Given the description of an element on the screen output the (x, y) to click on. 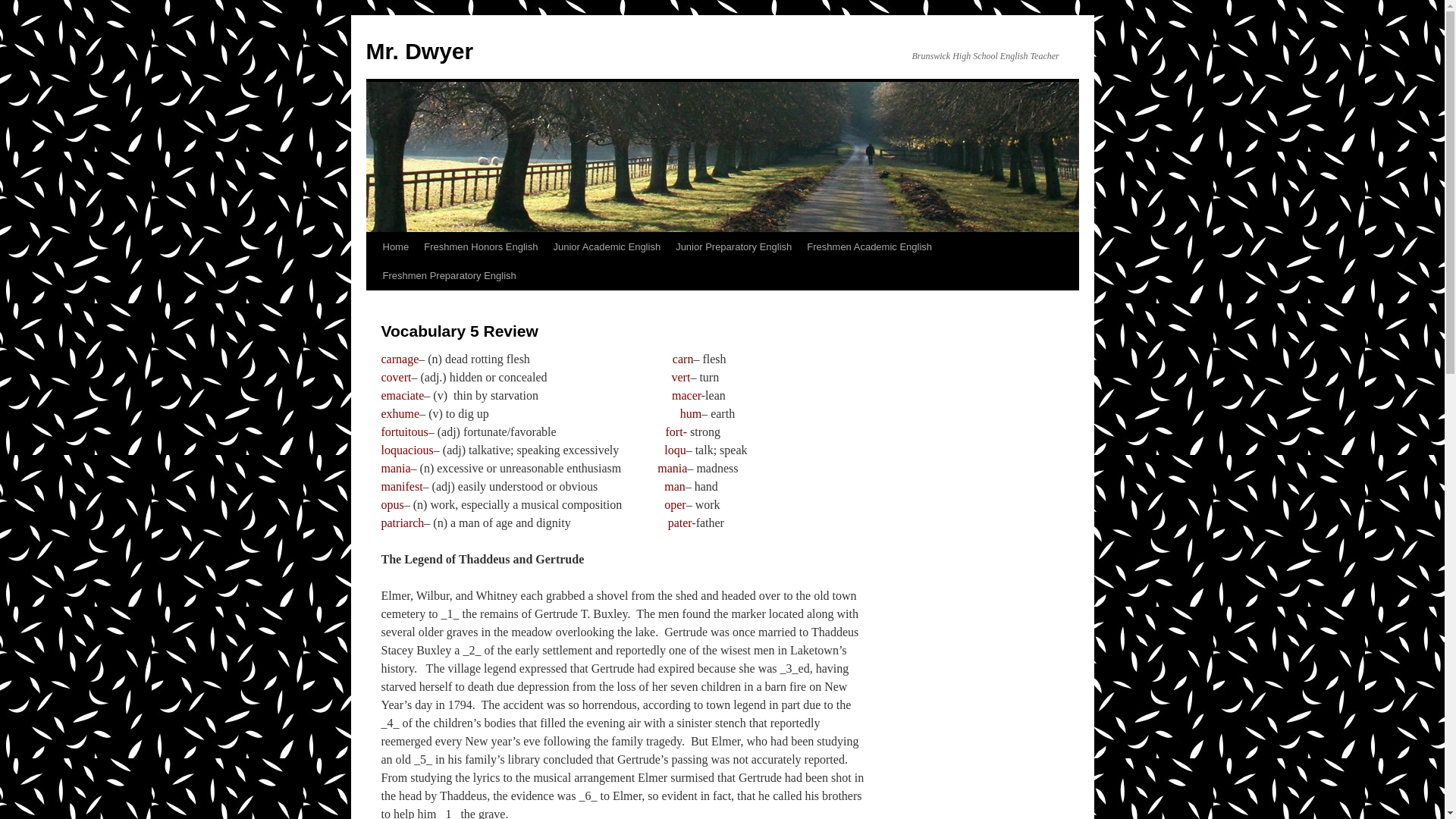
Junior Preparatory English (733, 246)
Freshmen Preparatory English (448, 275)
Mr. Dwyer (419, 50)
Freshmen Honors English (480, 246)
Home (395, 246)
Freshmen Academic English (869, 246)
Junior Academic English (606, 246)
Mr. Dwyer (419, 50)
